Given the description of an element on the screen output the (x, y) to click on. 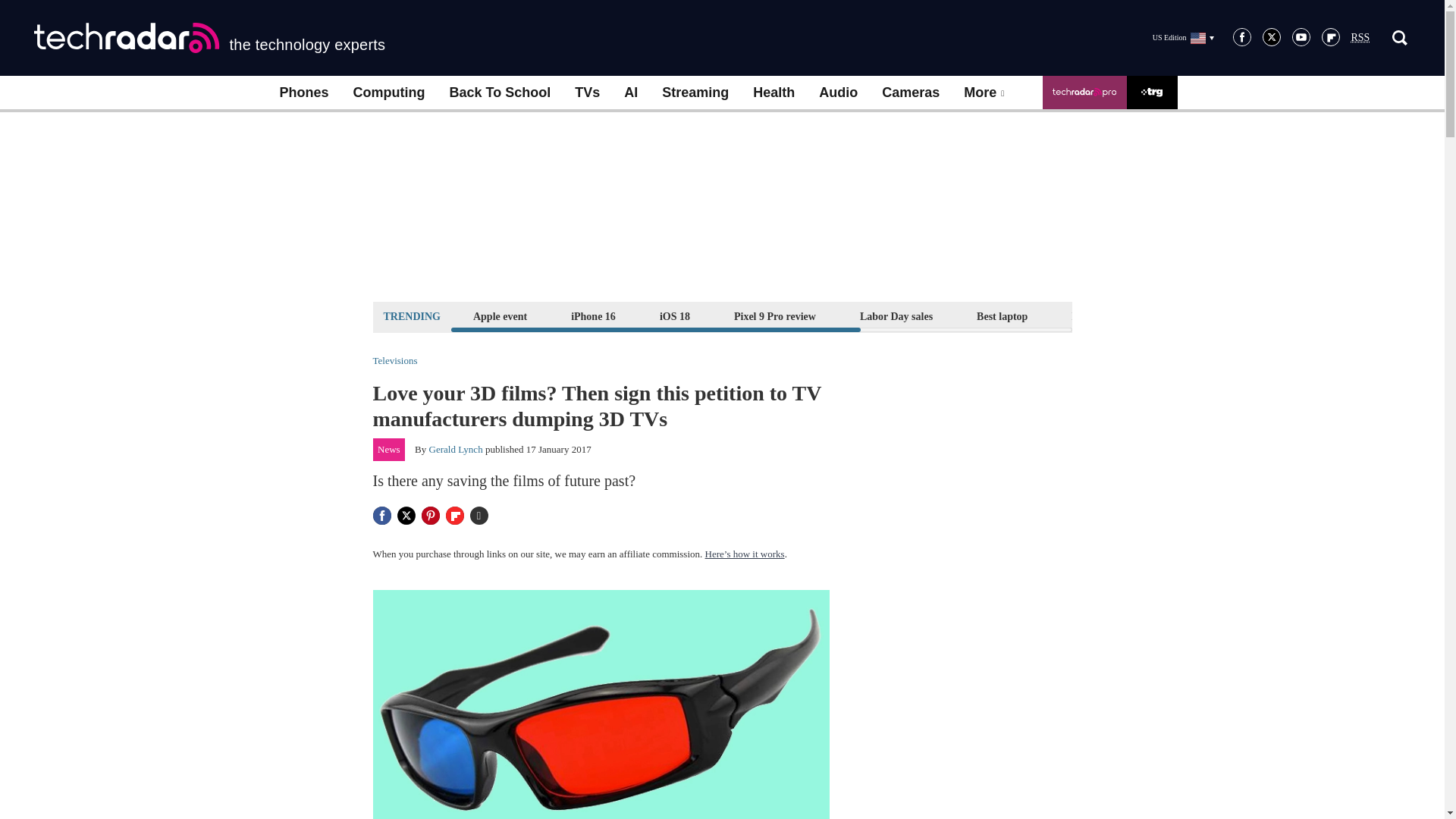
the technology experts (209, 38)
Audio (837, 92)
AI (630, 92)
Health (773, 92)
Streaming (695, 92)
Computing (389, 92)
Cameras (910, 92)
US Edition (1182, 37)
Really Simple Syndication (1360, 37)
TVs (586, 92)
